Given the description of an element on the screen output the (x, y) to click on. 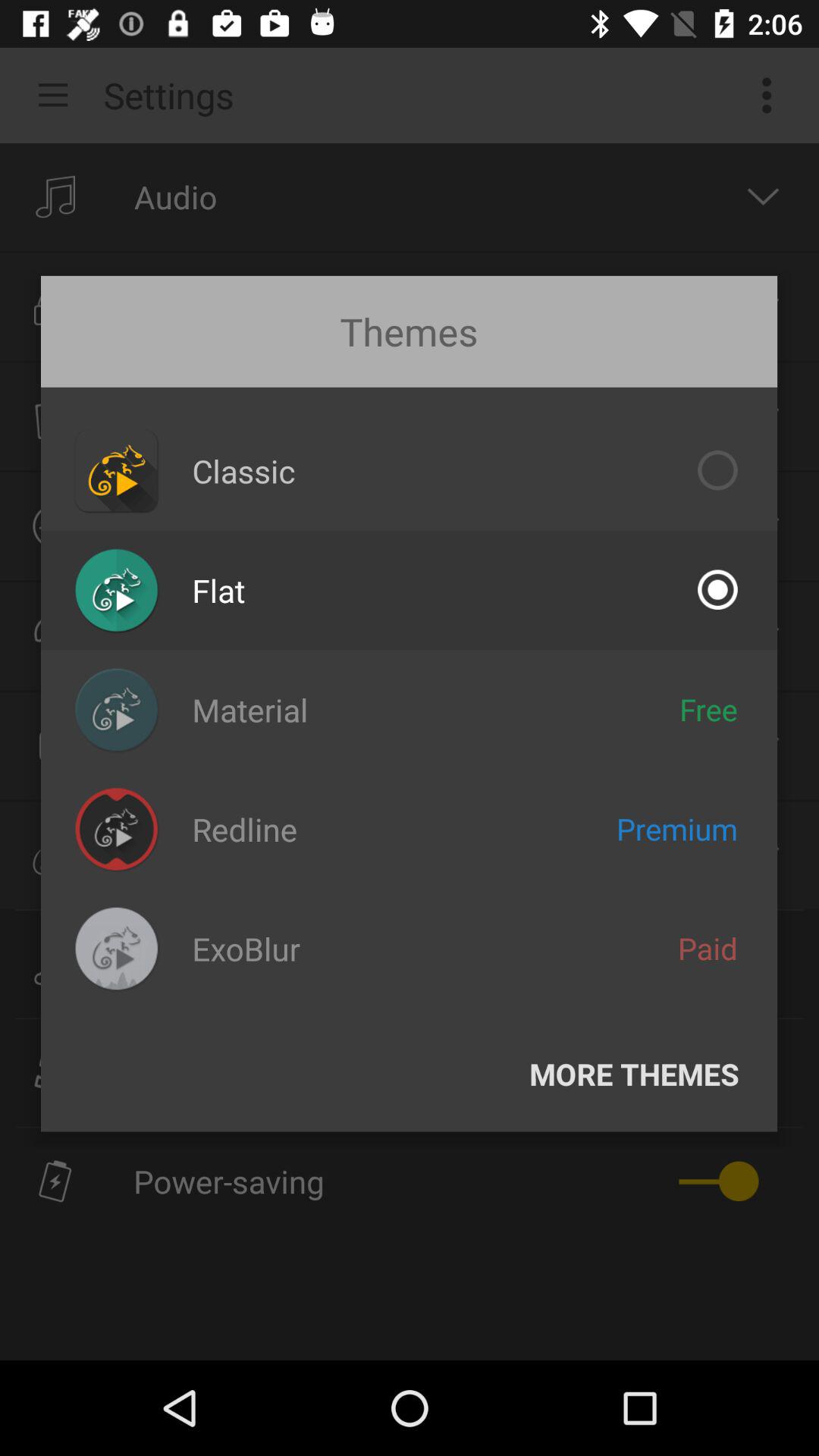
select the icon to the right of material item (708, 709)
